Given the description of an element on the screen output the (x, y) to click on. 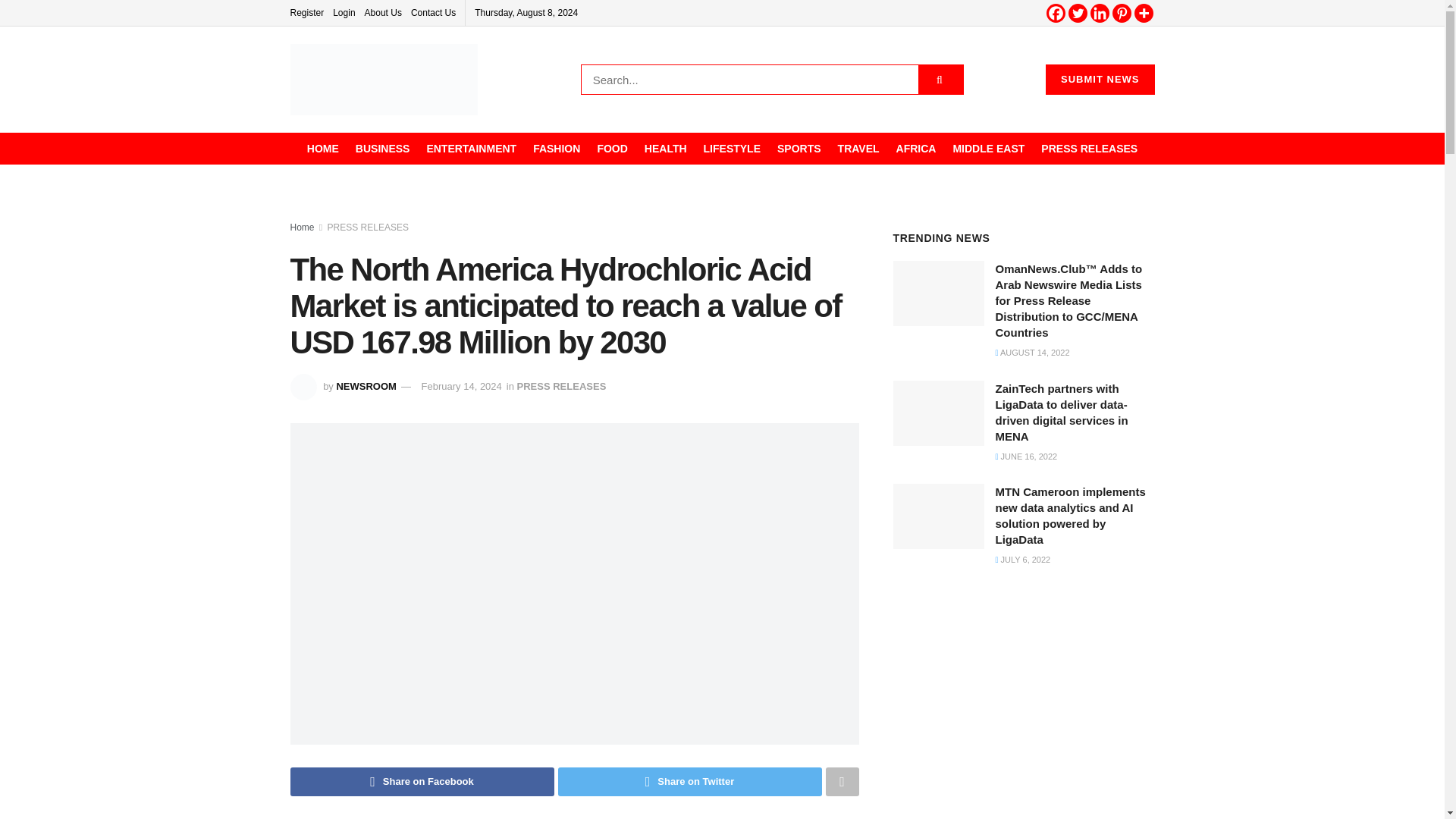
AFRICA (916, 148)
FOOD (611, 148)
ENTERTAINMENT (471, 148)
HEALTH (666, 148)
LIFESTYLE (731, 148)
MIDDLE EAST (988, 148)
Linkedin (1099, 13)
HOME (323, 148)
PRESS RELEASES (1089, 148)
TRAVEL (858, 148)
BUSINESS (382, 148)
Facebook (1055, 13)
About Us (383, 12)
SUBMIT NEWS (1099, 79)
SPORTS (799, 148)
